Given the description of an element on the screen output the (x, y) to click on. 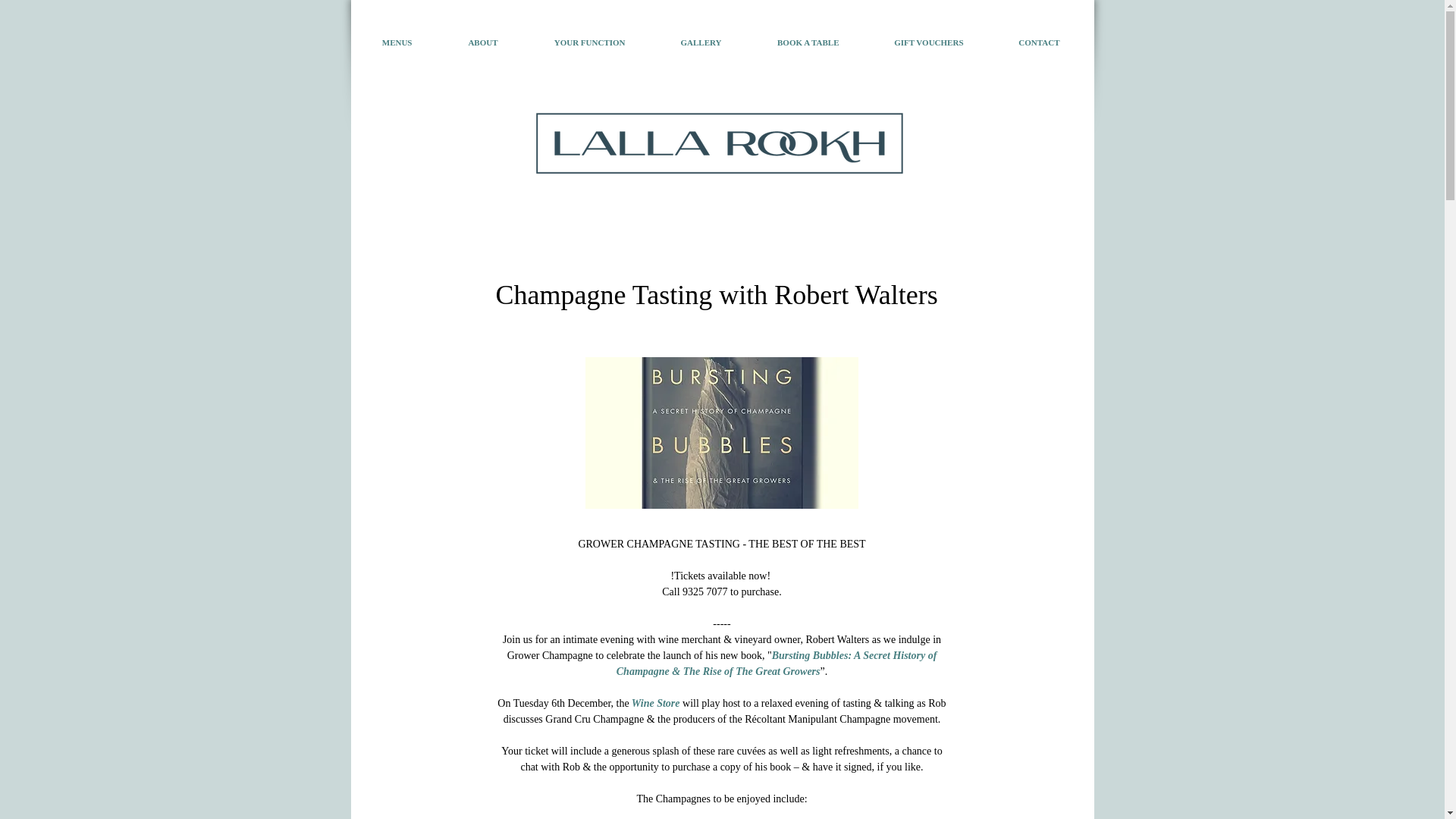
MENUS Element type: text (376, 42)
Lalla-Rookh-Bar-and-Eating-House-header.png Element type: hover (718, 142)
BOOK A TABLE Element type: text (788, 42)
GALLERY Element type: text (680, 42)
 Wine Store Element type: text (654, 703)
YOUR FUNCTION Element type: text (568, 42)
CONTACT Element type: text (1018, 42)
GIFT VOUCHERS Element type: text (908, 42)
